Given the description of an element on the screen output the (x, y) to click on. 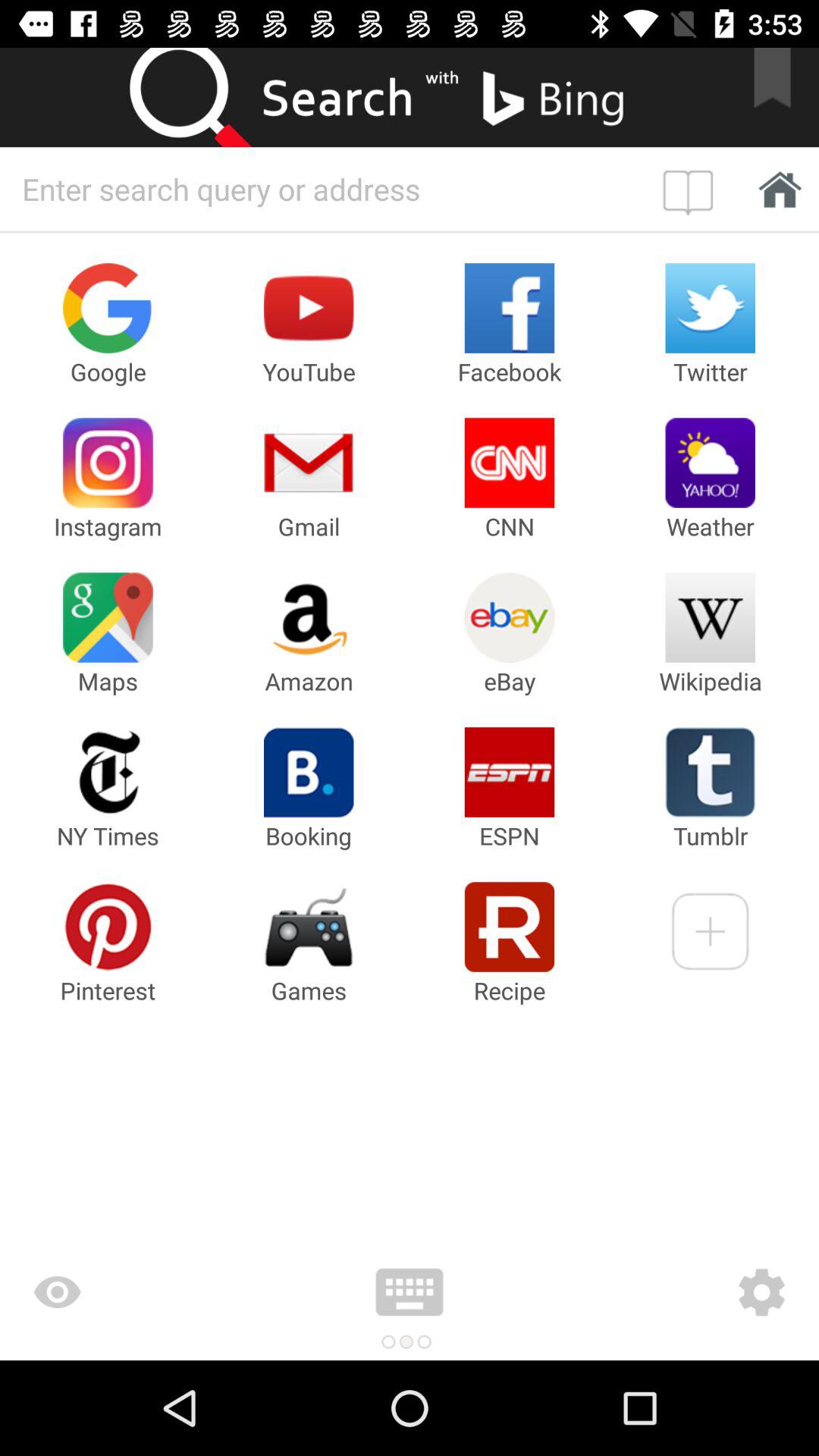
add this to bookmark (782, 97)
